Given the description of an element on the screen output the (x, y) to click on. 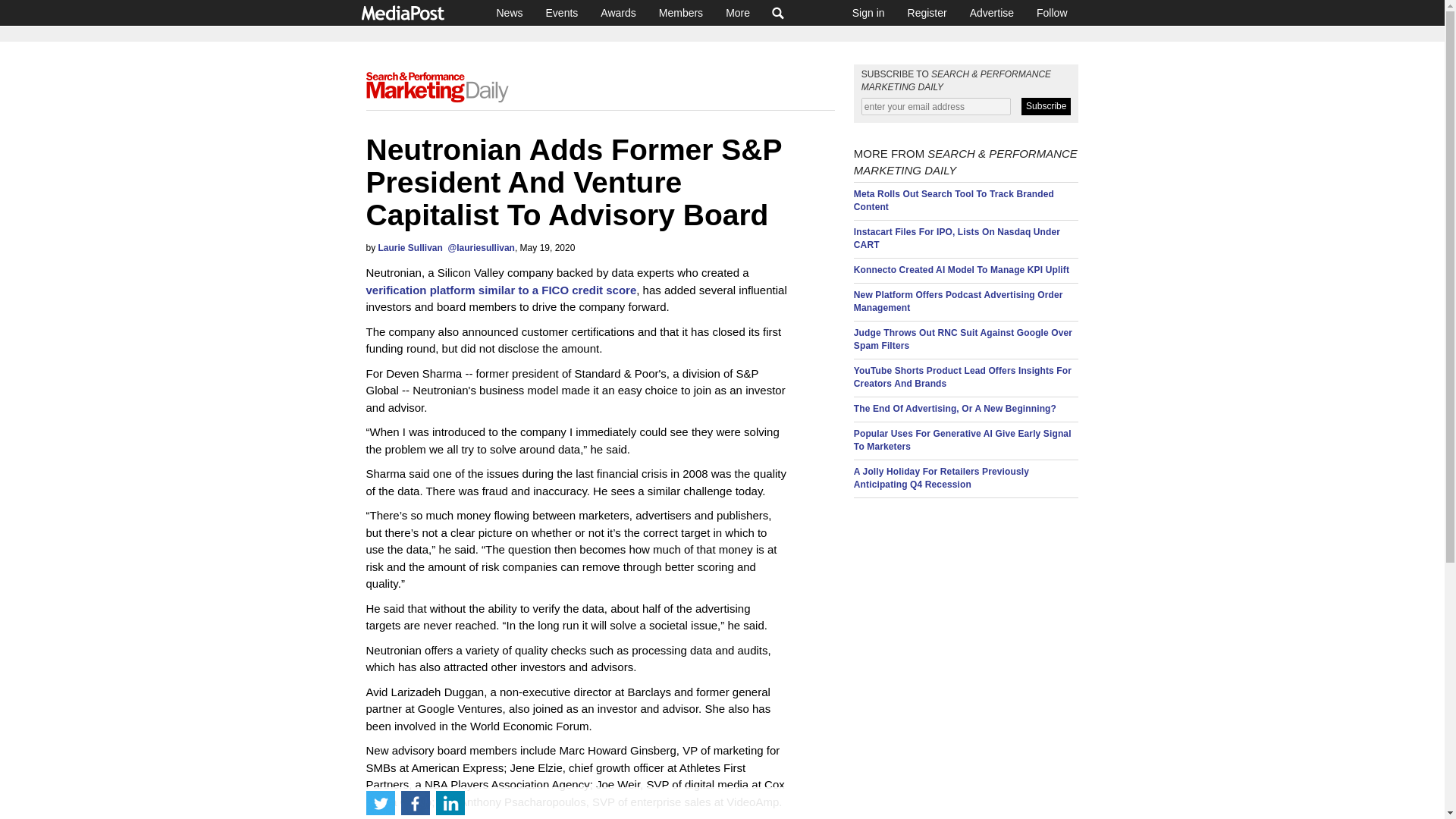
Share on Facebook (414, 802)
Subscribe (1046, 106)
News (509, 12)
Share on LinkedIn (449, 802)
Share on Twitter (379, 802)
